Given the description of an element on the screen output the (x, y) to click on. 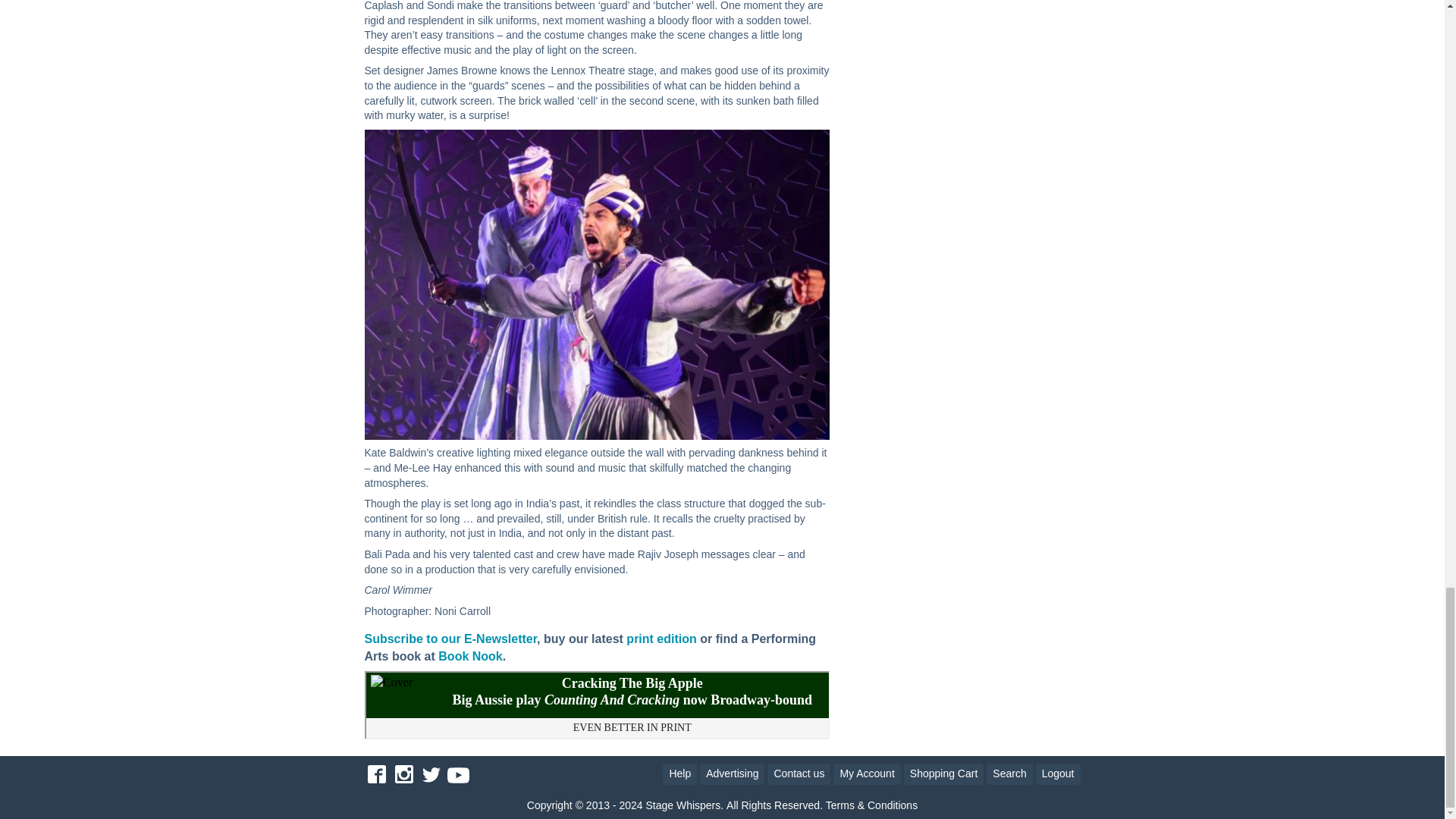
Subscribe to our E-Newsletter (450, 638)
print edition (660, 638)
Book Nook (470, 656)
